Given the description of an element on the screen output the (x, y) to click on. 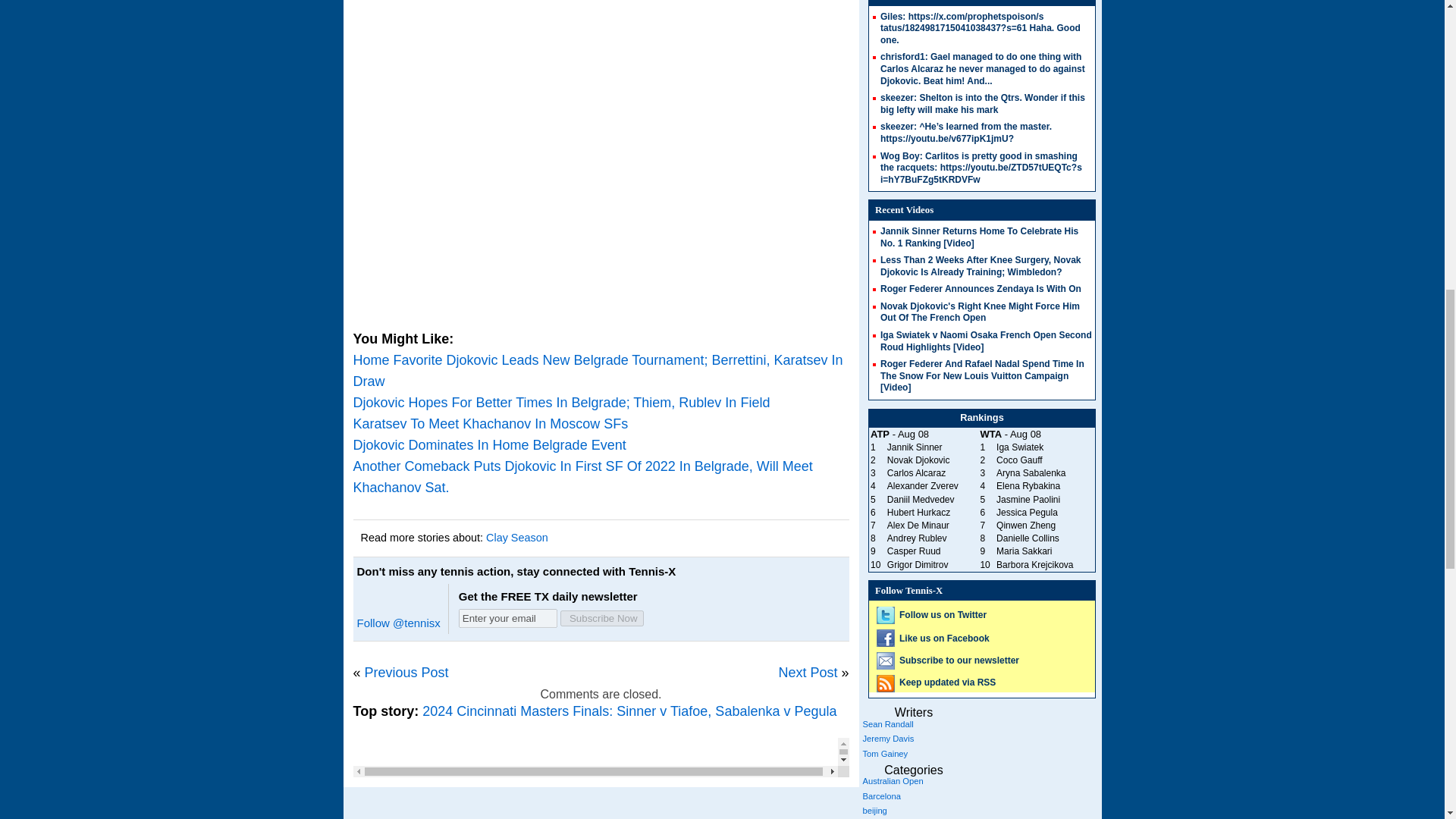
Subscribe Now (601, 618)
Clay Season (517, 537)
Enter your email (507, 618)
Permanent Link: Djokovic Dominates In Home Belgrade Event (489, 444)
Djokovic Dominates In Home Belgrade Event (489, 444)
Subscribe Now (601, 618)
Next Post (807, 672)
